Given the description of an element on the screen output the (x, y) to click on. 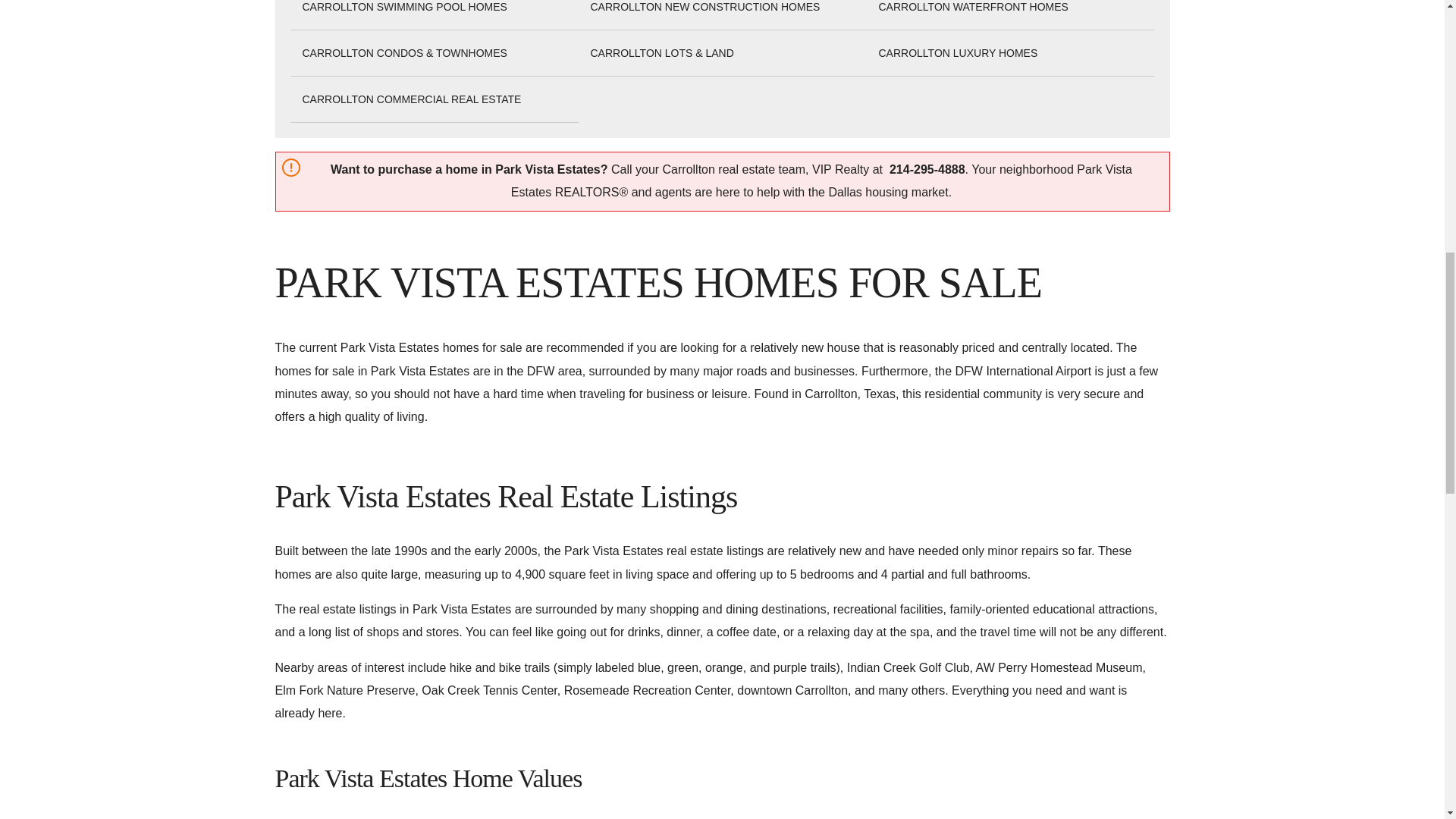
Carrollton Commercial Real Estate (411, 99)
Carrollton Swimming Pool Homes (403, 7)
Carrollton Luxury Homes (956, 53)
Carrollton New Construction Homes (704, 7)
Carrollton Waterfront Homes (972, 7)
Carrollton Condos Townhomes (403, 53)
